Given the description of an element on the screen output the (x, y) to click on. 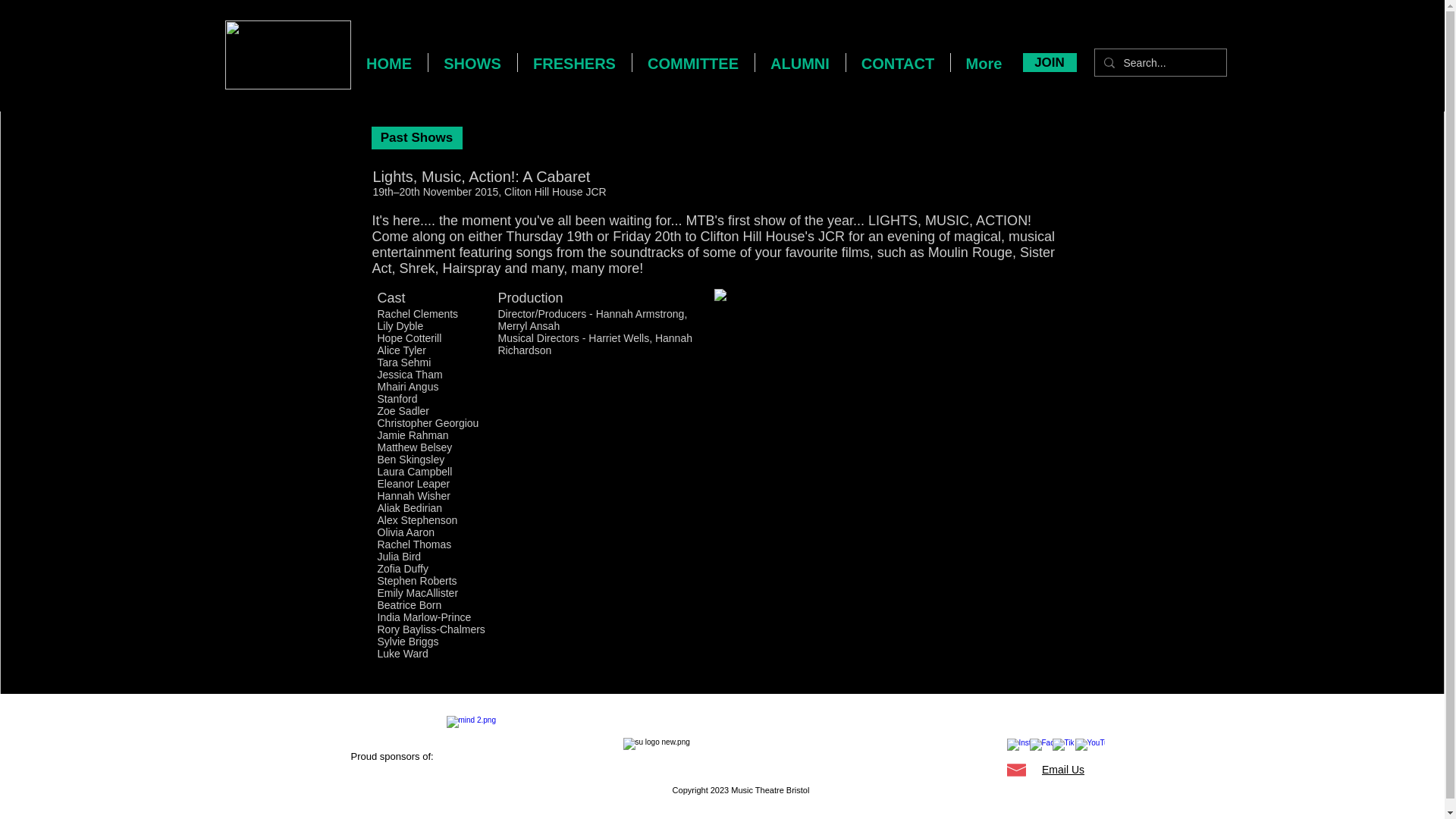
FRESHERS (573, 62)
Email Us (1063, 769)
COMMITTEE (692, 62)
JOIN (1048, 62)
ALUMNI (800, 62)
Past Shows (417, 137)
HOME (388, 62)
qwert-inverted.png (287, 54)
CONTACT (897, 62)
SHOWS (472, 62)
